Given the description of an element on the screen output the (x, y) to click on. 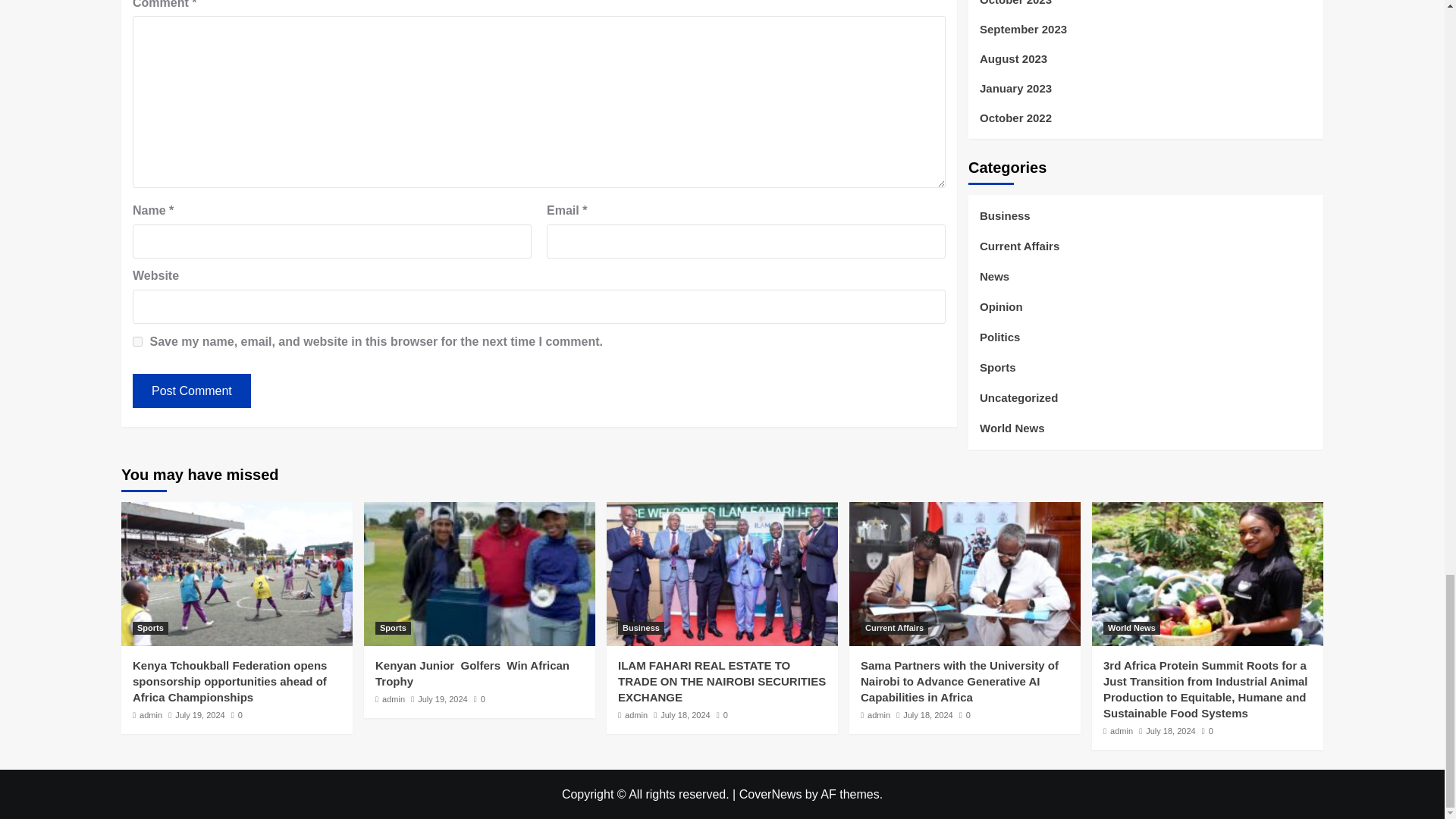
yes (137, 341)
Post Comment (191, 390)
Post Comment (191, 390)
